Given the description of an element on the screen output the (x, y) to click on. 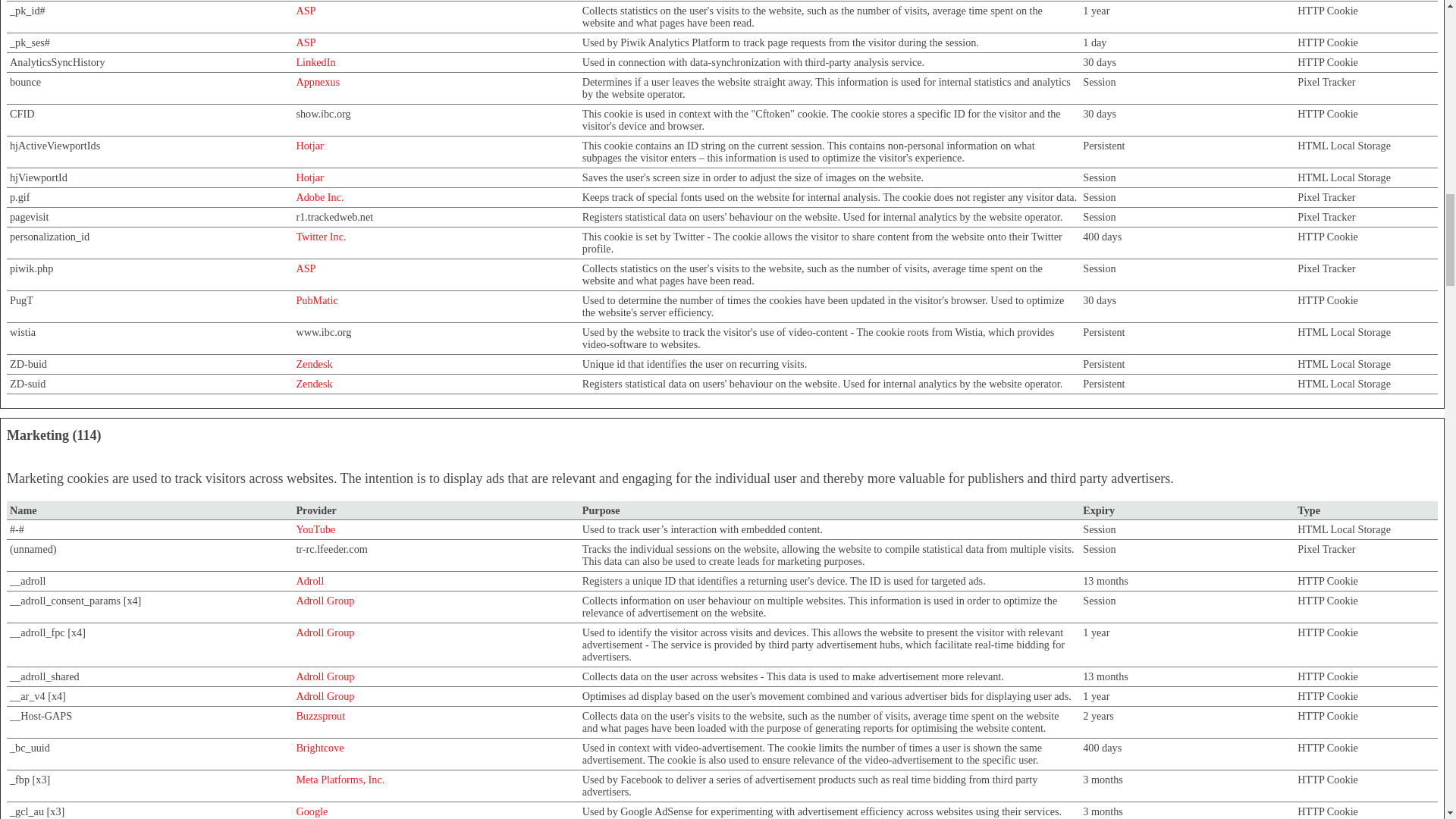
ASP (305, 42)
Appnexus (317, 81)
Hotjar (309, 145)
LinkedIn (314, 61)
ASP (305, 10)
Hotjar (309, 177)
